Given the description of an element on the screen output the (x, y) to click on. 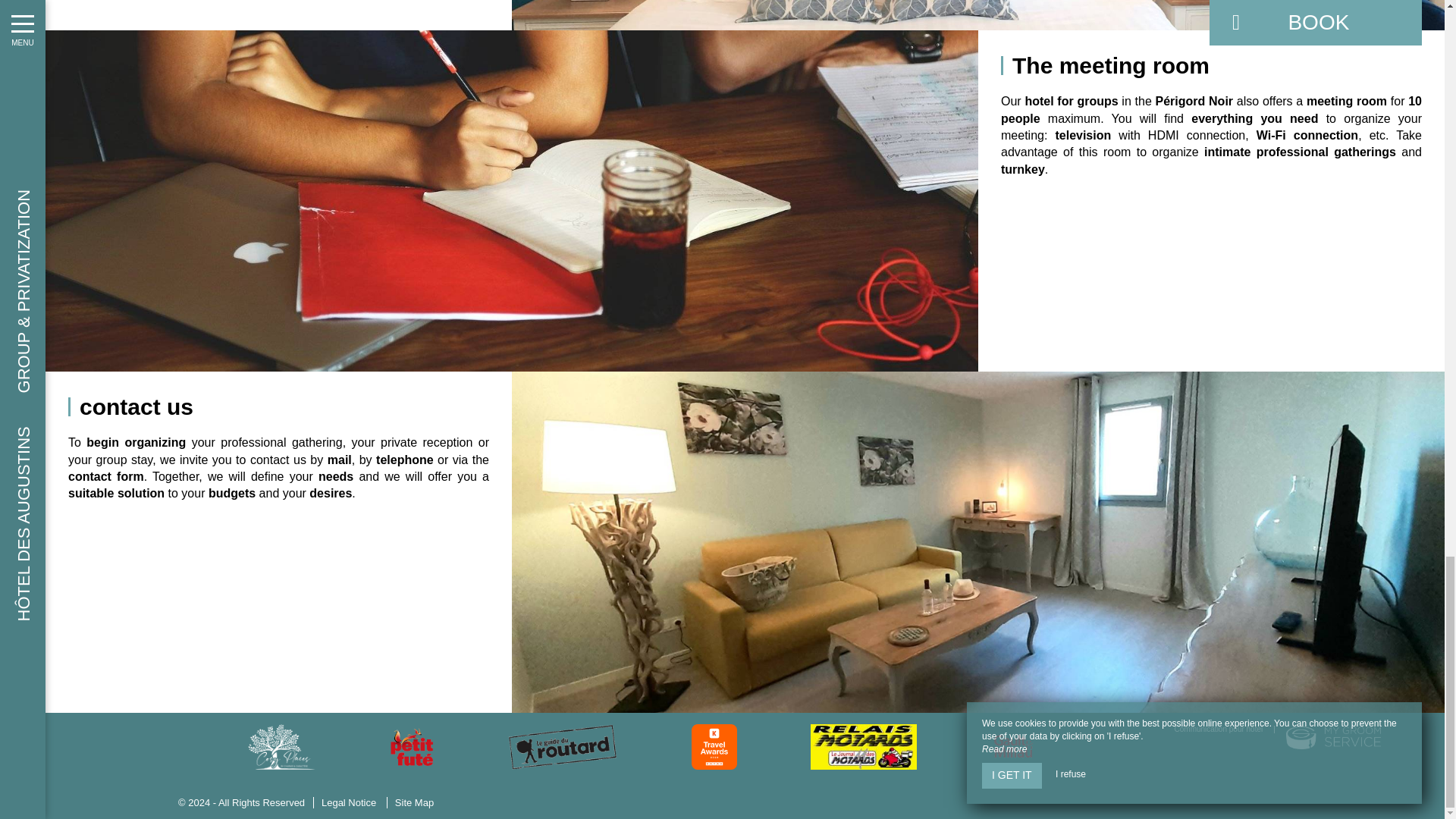
Legal Notice (348, 802)
Site Map (414, 802)
